Given the description of an element on the screen output the (x, y) to click on. 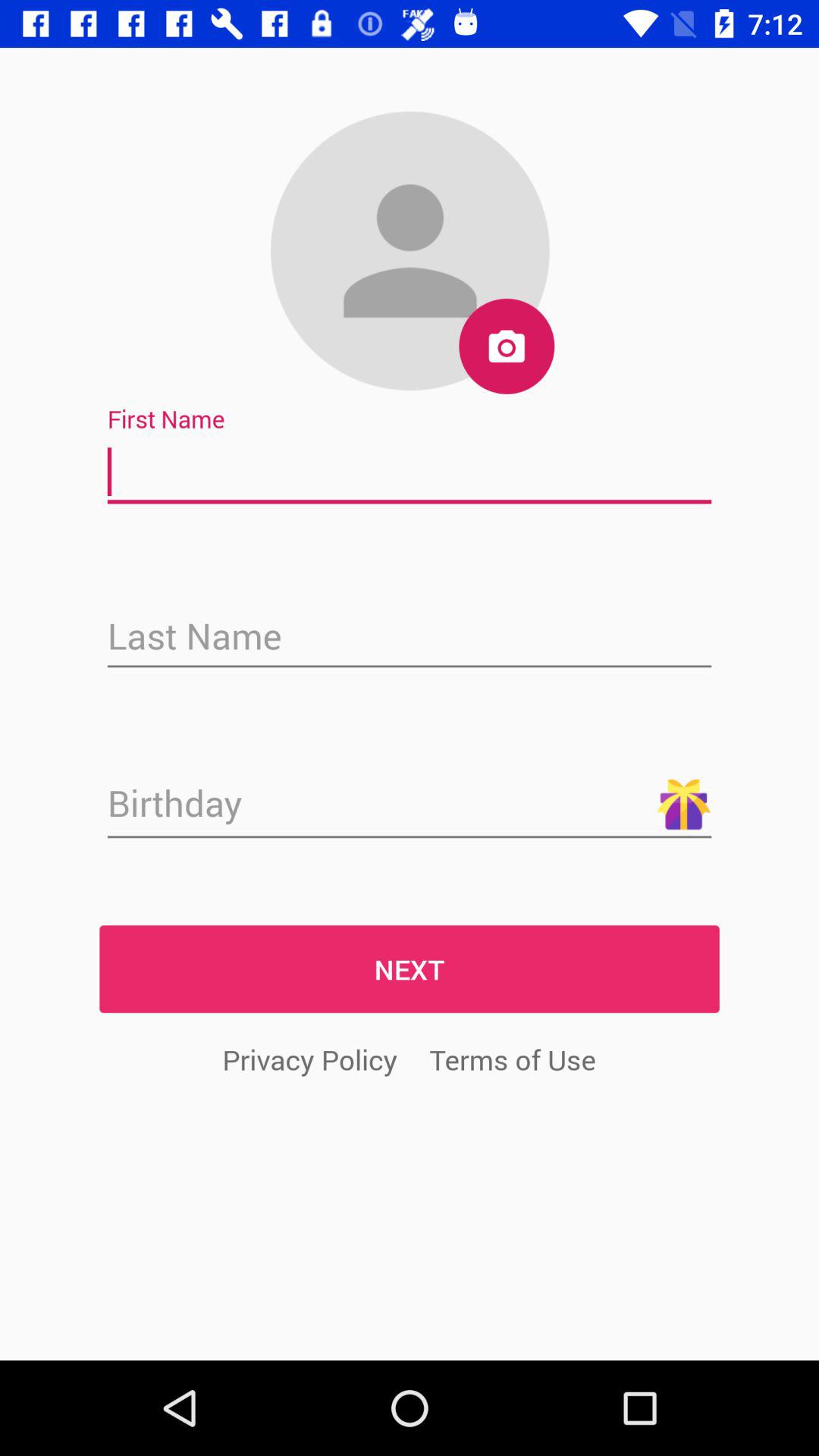
enter first namem (409, 472)
